Given the description of an element on the screen output the (x, y) to click on. 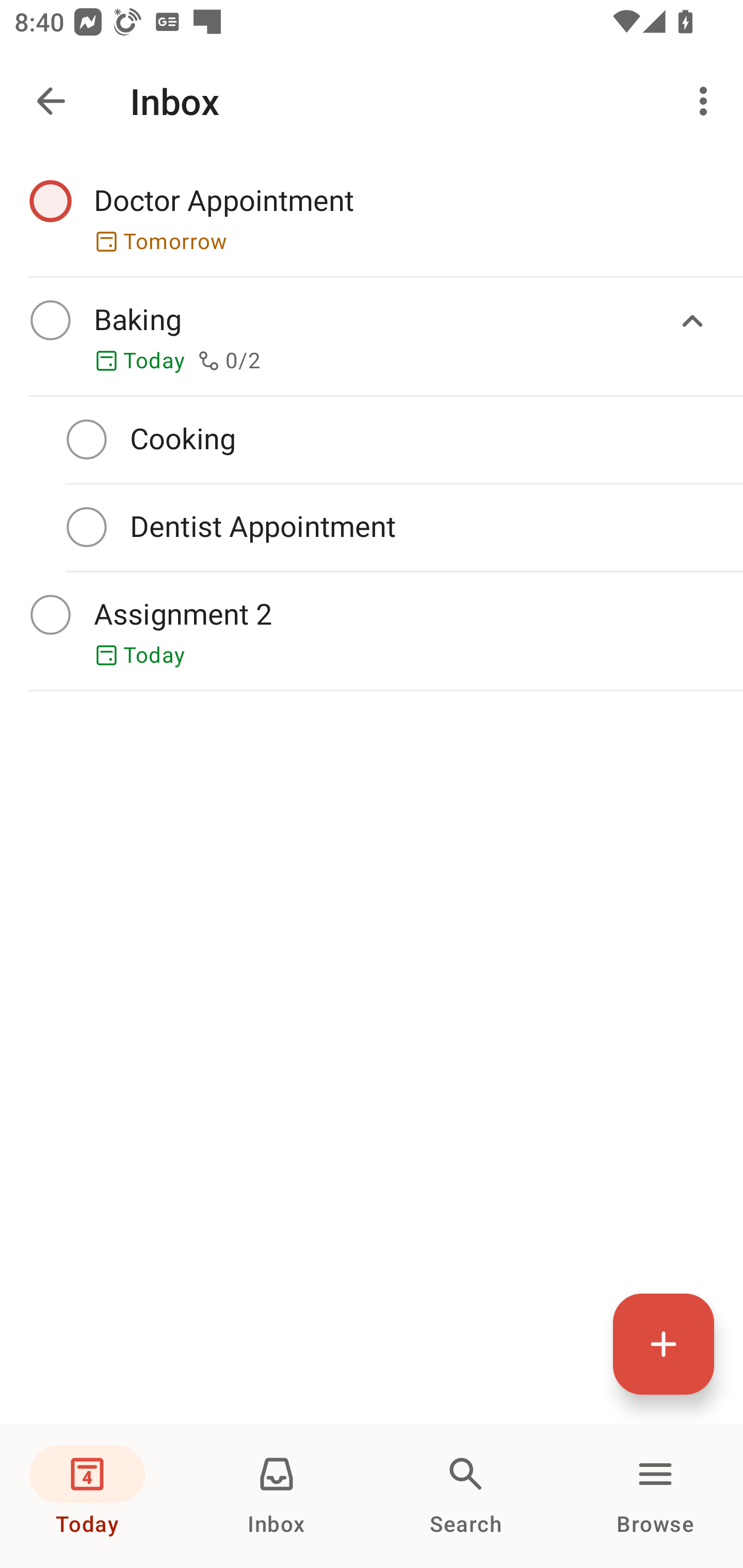
Navigate up Inbox More options (371, 100)
Navigate up (50, 101)
More options (706, 101)
Complete Doctor Appointment Tomorrow (371, 216)
Complete (50, 200)
Complete Baking Today 0/2 Subtasks Expand/collapse (371, 336)
Complete (50, 319)
Expand/collapse (692, 321)
Complete Cooking (371, 439)
Complete (86, 438)
Complete Dentist Appointment (371, 527)
Complete (86, 526)
Complete Assignment 2 Today (371, 630)
Complete (50, 614)
Quick add (663, 1343)
Inbox (276, 1495)
Search (465, 1495)
Browse (655, 1495)
